Given the description of an element on the screen output the (x, y) to click on. 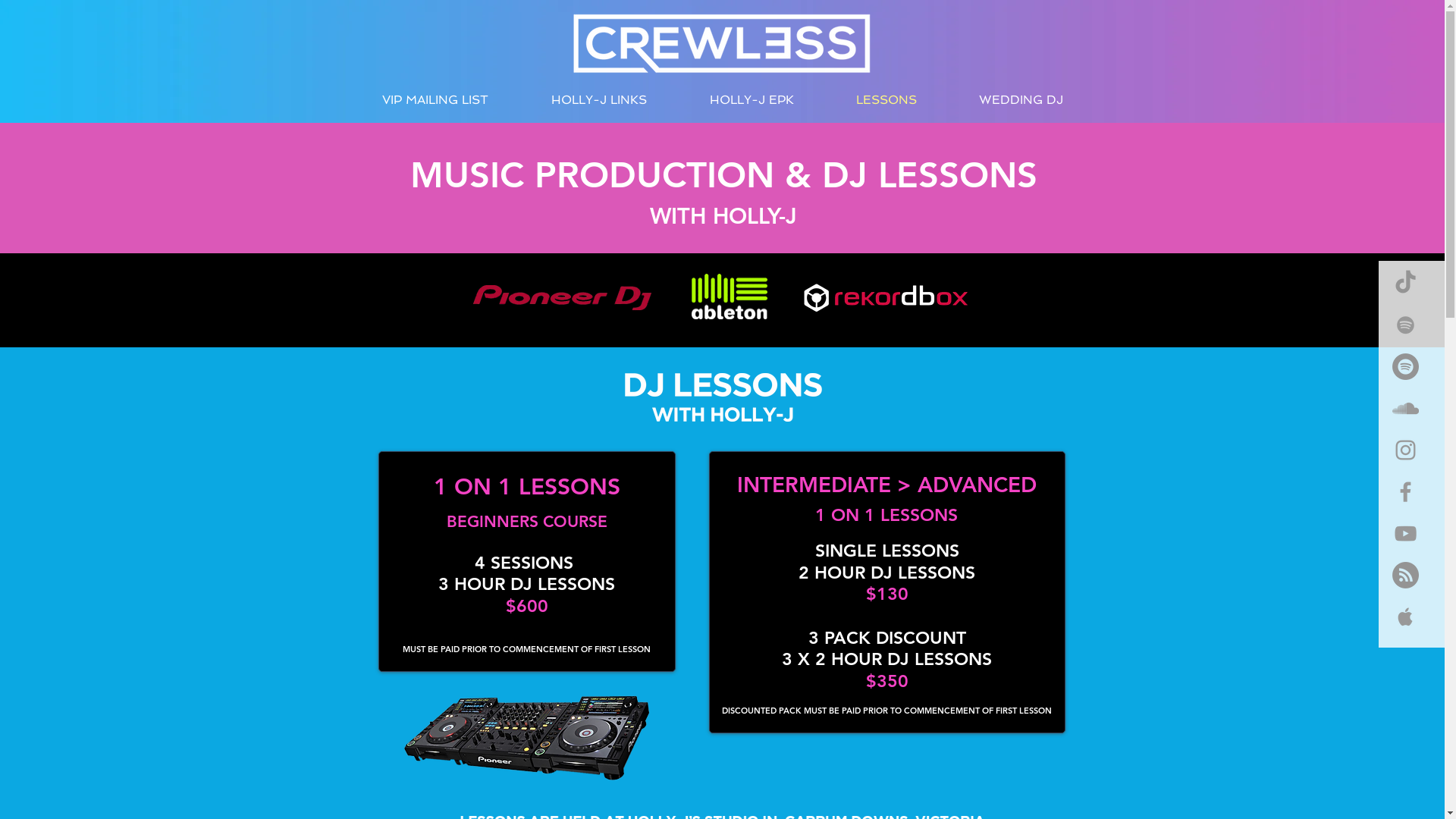
WEDDING DJ Element type: text (1020, 99)
VIP MAILING LIST Element type: text (434, 99)
LESSONS Element type: text (886, 99)
HOLLY-J LINKS Element type: text (599, 99)
HOLLY-J EPK Element type: text (750, 99)
